Given the description of an element on the screen output the (x, y) to click on. 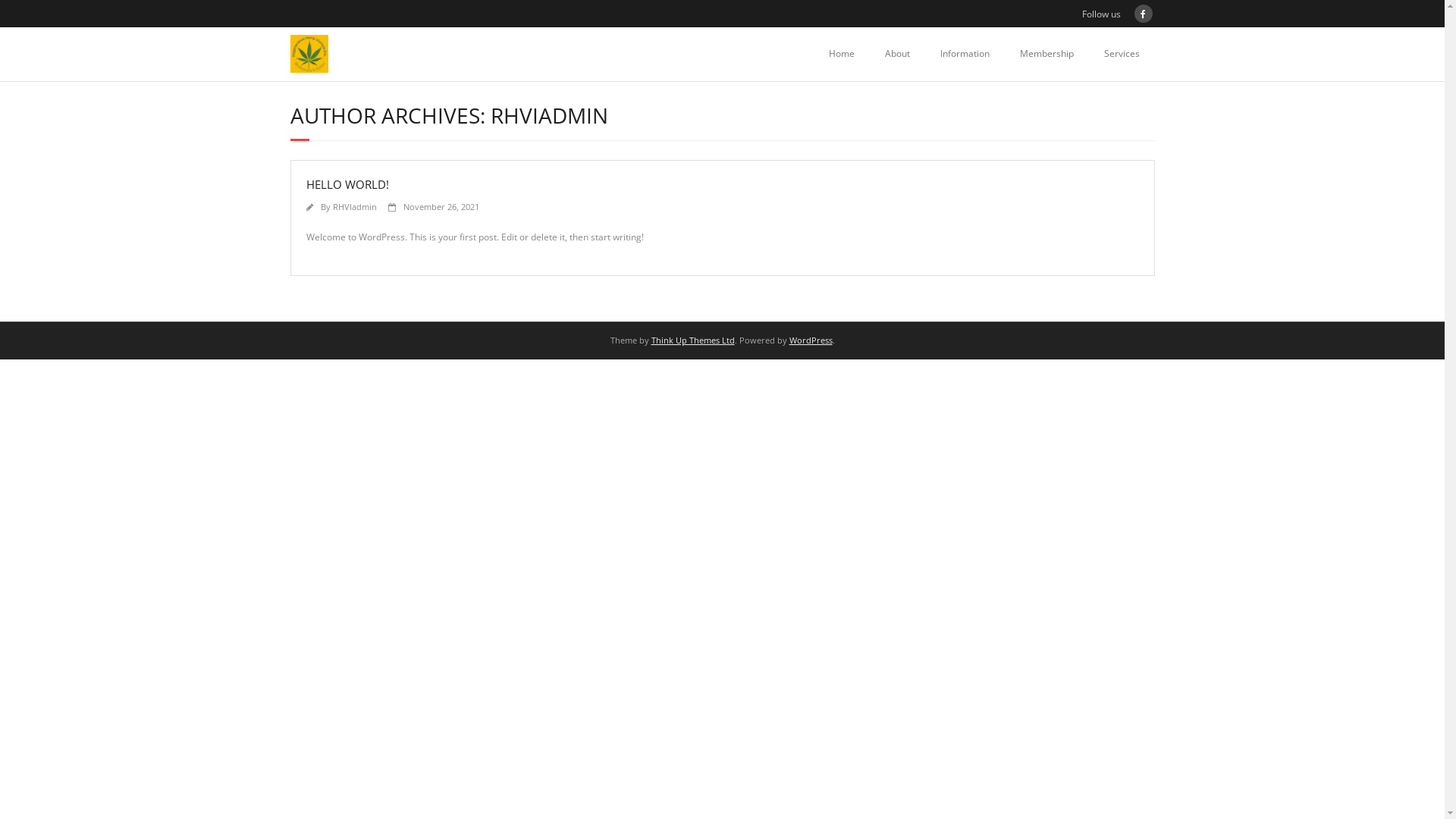
Information Element type: text (964, 53)
Services Element type: text (1121, 53)
Home Element type: text (840, 53)
RHVIadmin Element type: text (354, 206)
Membership Element type: text (1046, 53)
WordPress Element type: text (809, 339)
About Element type: text (896, 53)
HELLO WORLD! Element type: text (347, 183)
November 26, 2021 Element type: text (441, 206)
Think Up Themes Ltd Element type: text (692, 339)
